Given the description of an element on the screen output the (x, y) to click on. 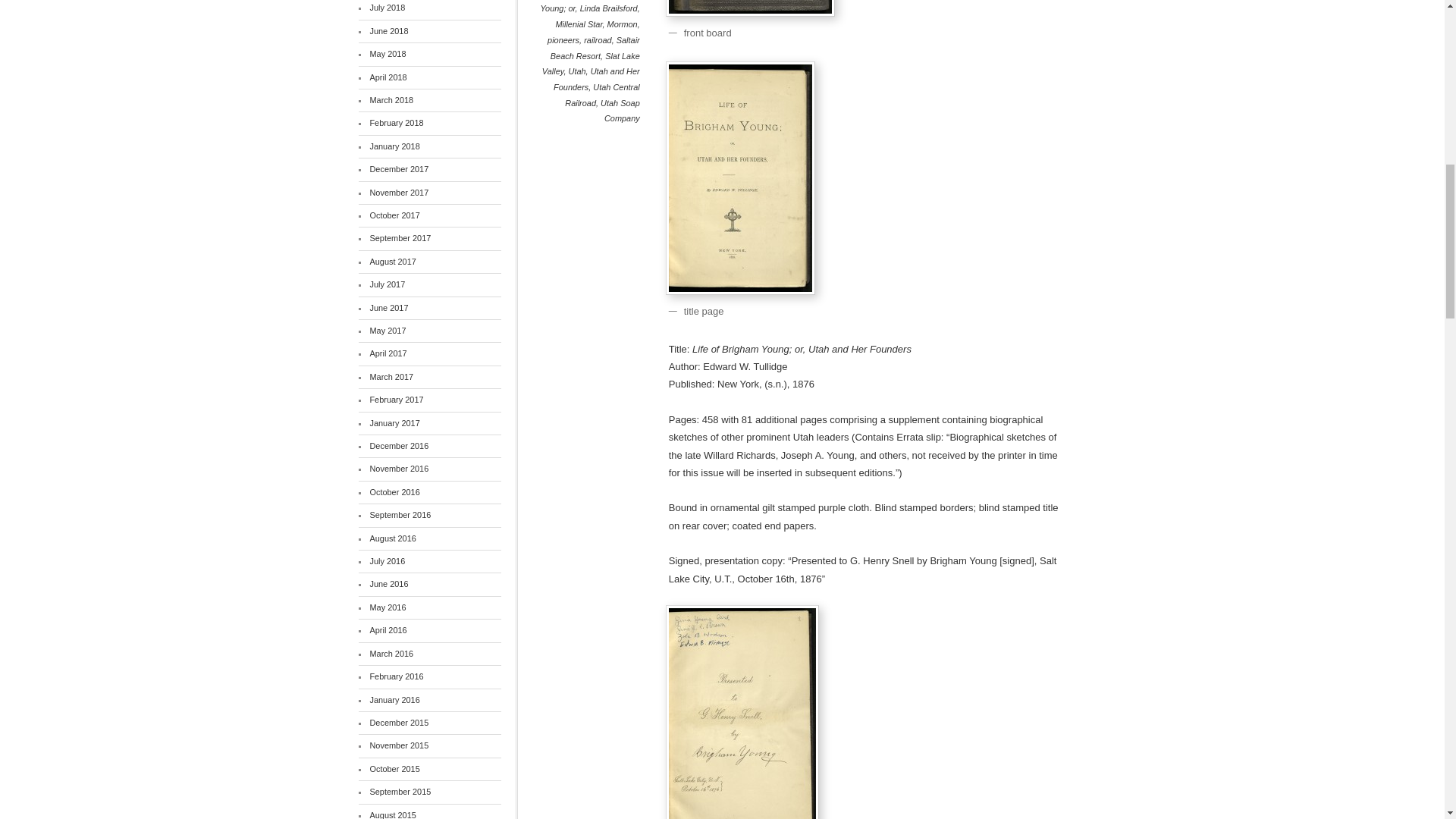
railroad (597, 40)
Mormon (622, 23)
Saltair Beach Resort (595, 48)
Utah Central Railroad (602, 94)
Life of Brigham Young; or (589, 6)
Utah (576, 71)
Utah and Her Founders (596, 78)
Slat Lake Valley (590, 63)
Linda Brailsford (608, 8)
Millenial Star (578, 23)
